Given the description of an element on the screen output the (x, y) to click on. 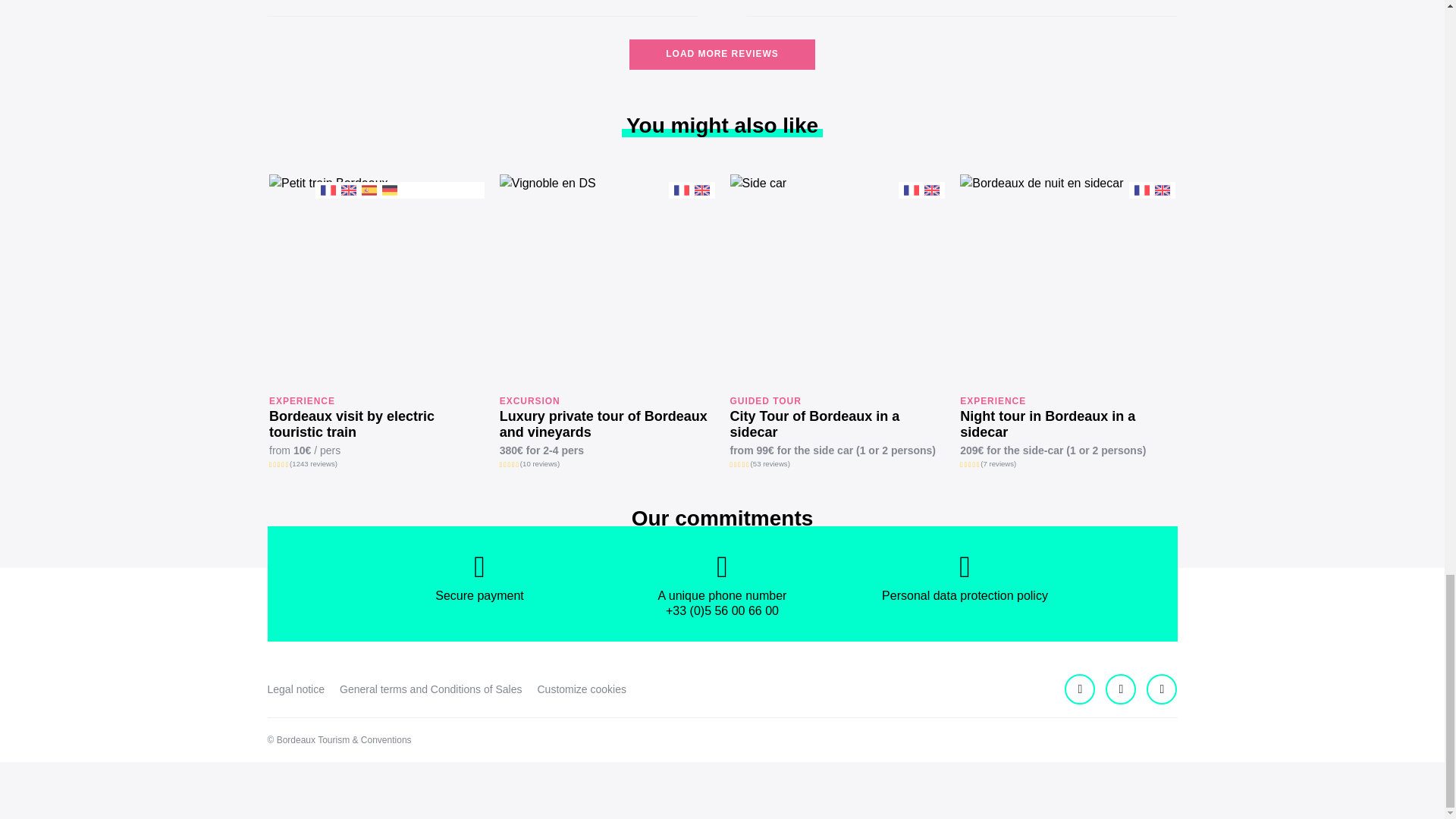
Side car (836, 281)
Bordeaux de nuit en sidecar (1066, 281)
Petit train Bordeaux (376, 281)
Vignoble en DS (606, 281)
